Given the description of an element on the screen output the (x, y) to click on. 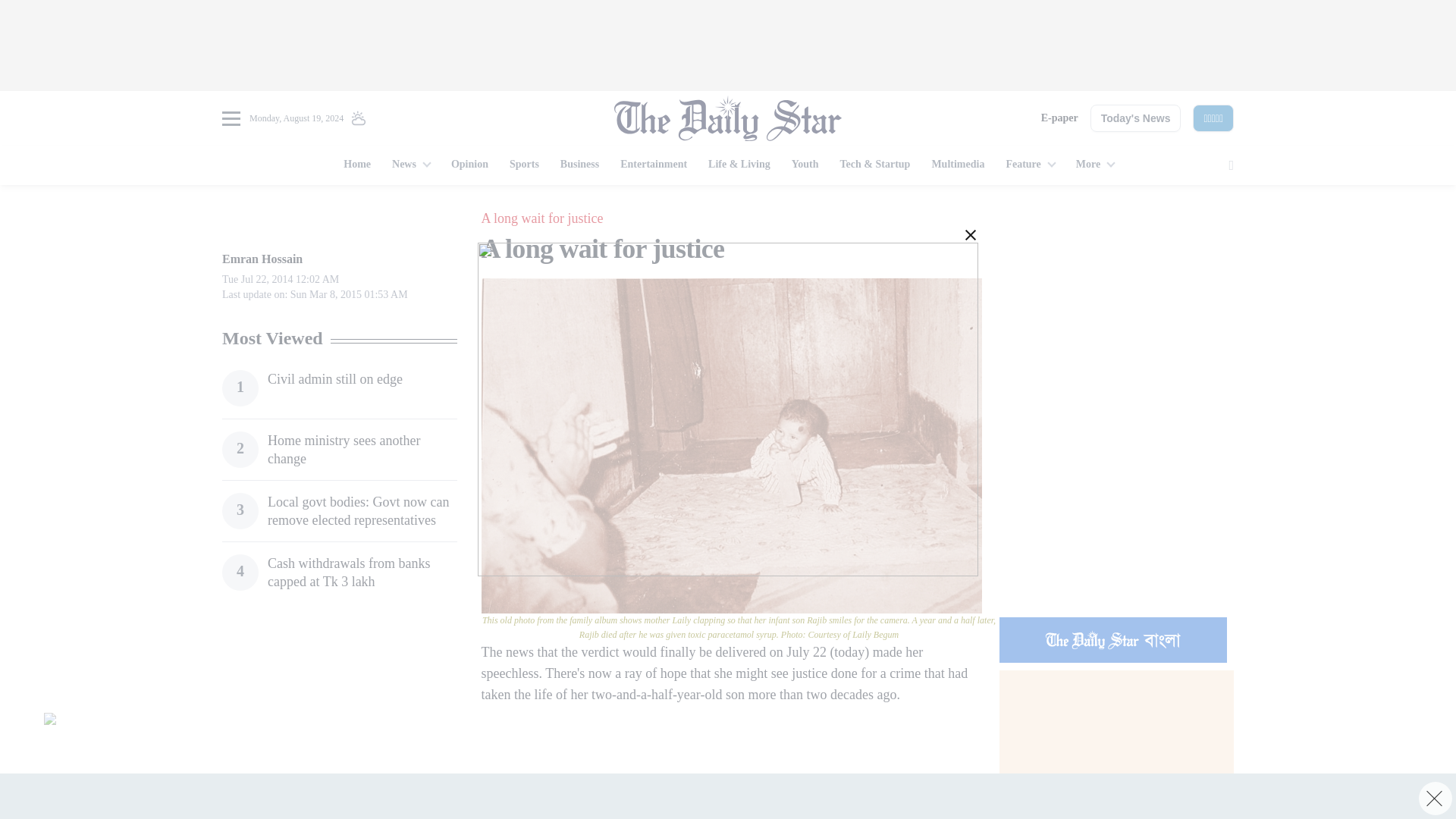
Multimedia (956, 165)
Sports (524, 165)
3rd party ad content (727, 45)
3rd party ad content (338, 717)
3rd party ad content (720, 749)
Youth (805, 165)
3rd party ad content (727, 796)
News (410, 165)
Home (357, 165)
